Given the description of an element on the screen output the (x, y) to click on. 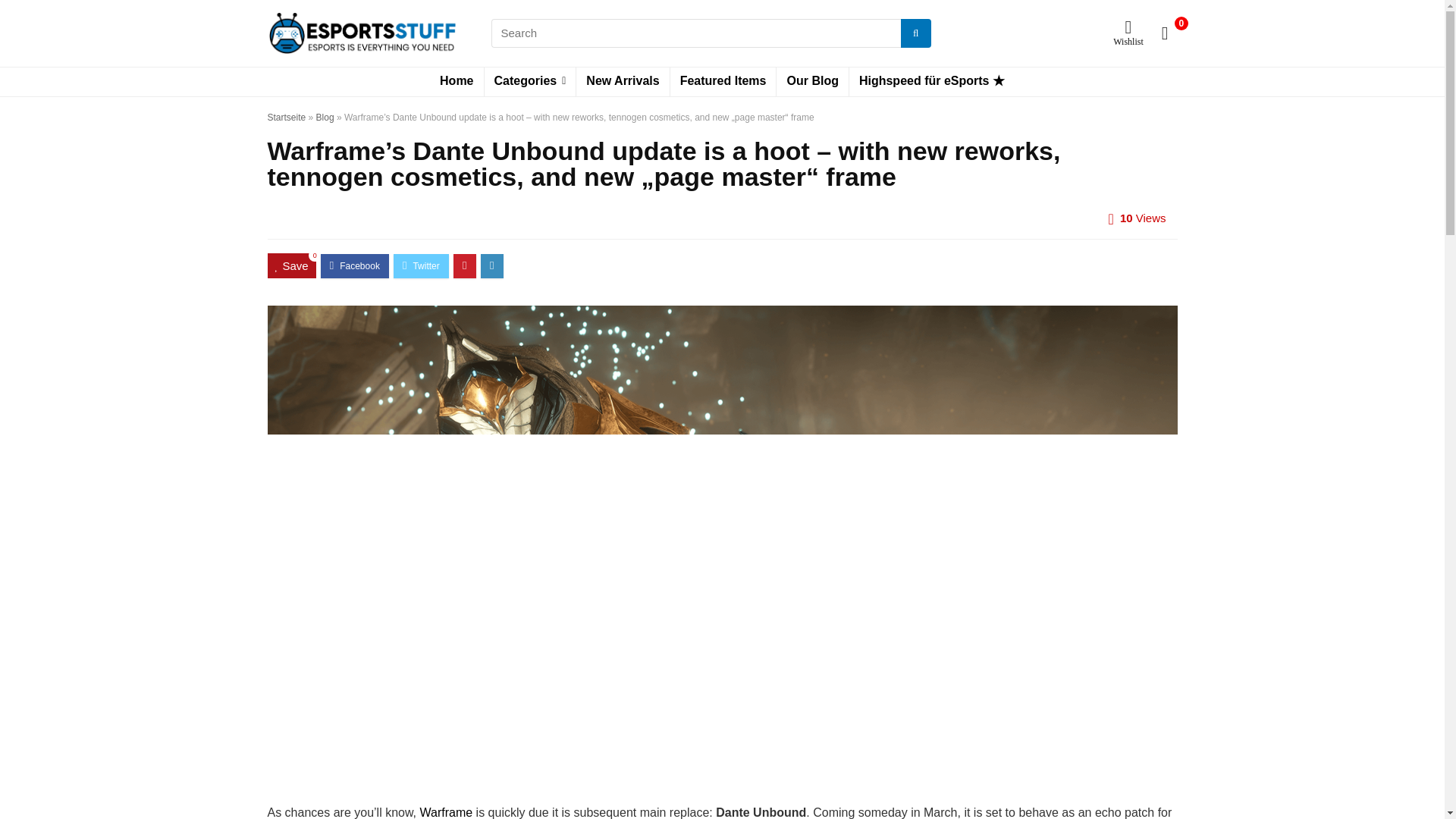
New Arrivals (622, 81)
Categories (529, 81)
Warframe (446, 812)
Startseite (285, 117)
Blog (324, 117)
Our Blog (811, 81)
Home (456, 81)
Featured Items (722, 81)
